Given the description of an element on the screen output the (x, y) to click on. 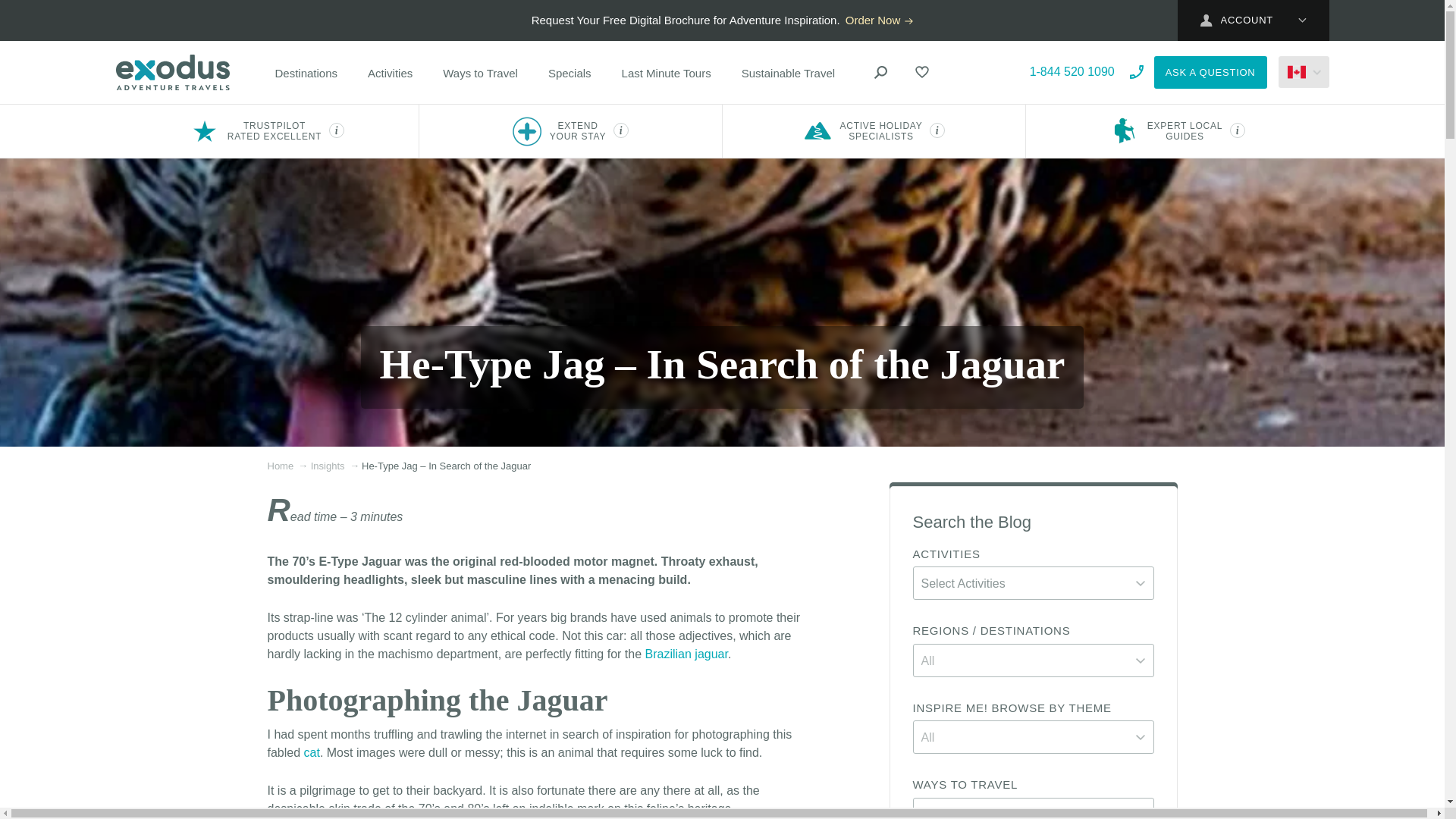
Order Now (879, 19)
ACCOUNT (1251, 20)
Destinations (306, 72)
